Given the description of an element on the screen output the (x, y) to click on. 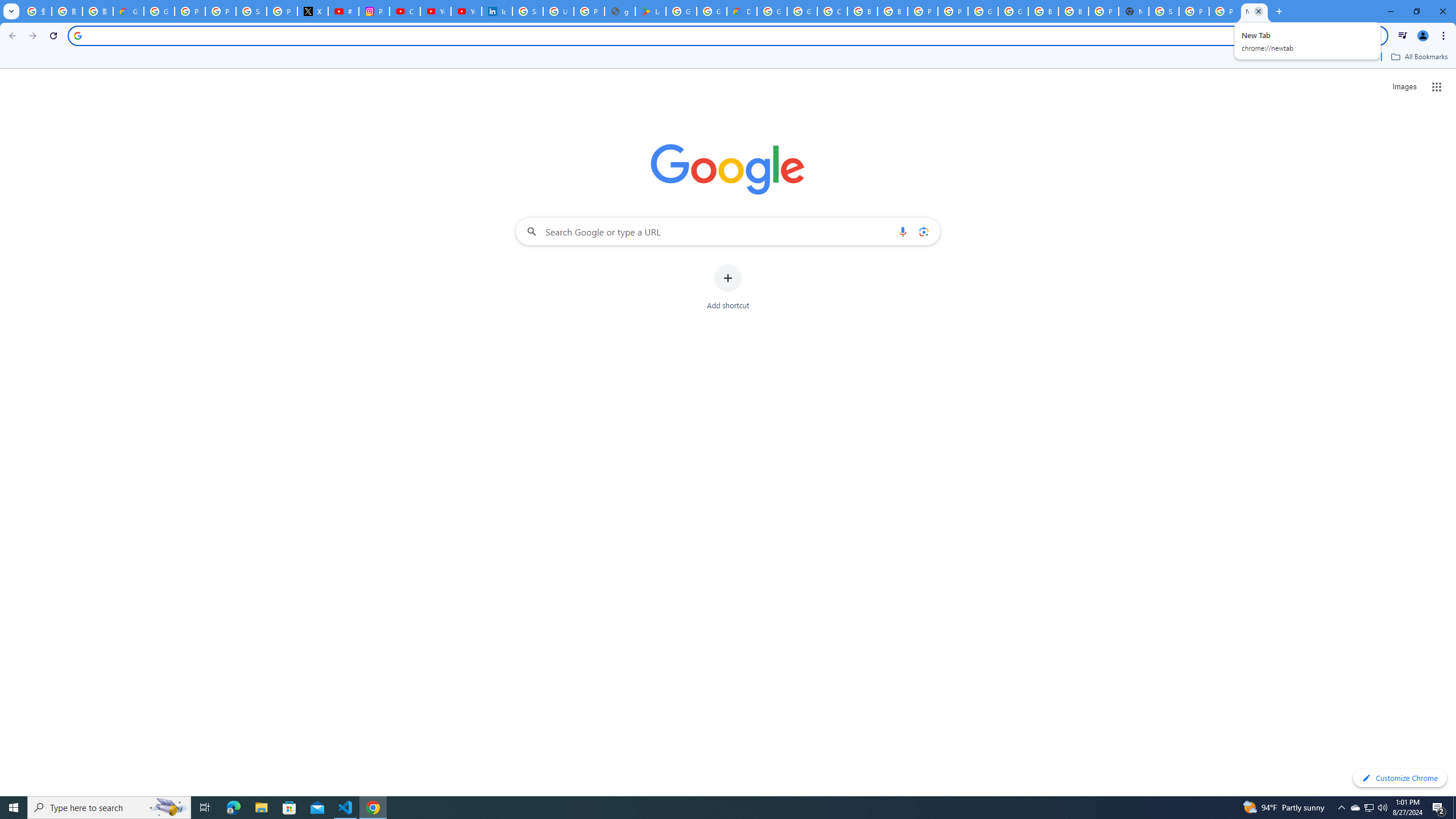
Google Cloud Platform (1012, 11)
X (312, 11)
Browse Chrome as a guest - Computer - Google Chrome Help (862, 11)
Google Cloud Privacy Notice (127, 11)
Sign in - Google Accounts (251, 11)
Add shortcut (727, 287)
